Given the description of an element on the screen output the (x, y) to click on. 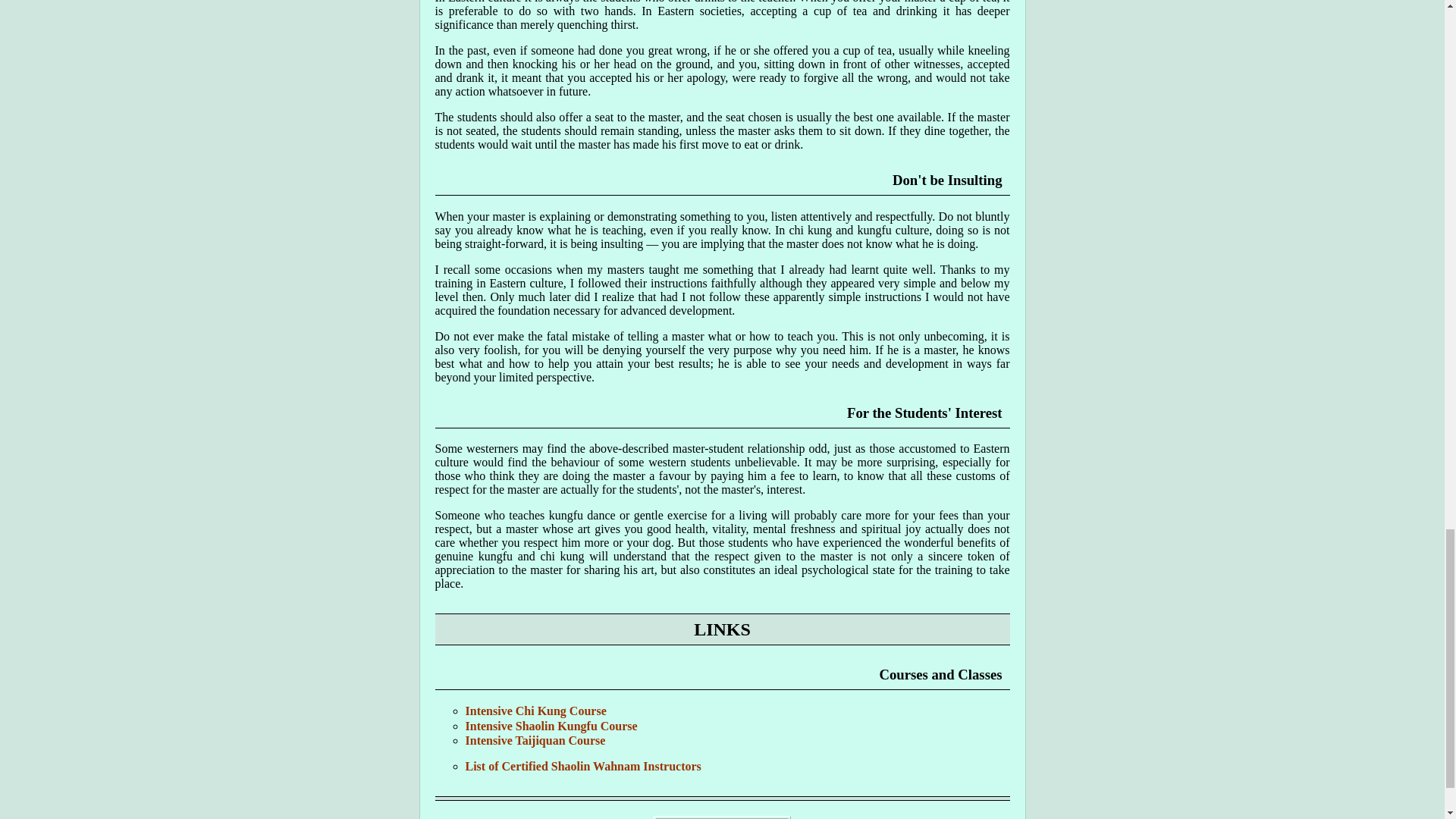
Intensive Taijiquan Course (535, 739)
